Given the description of an element on the screen output the (x, y) to click on. 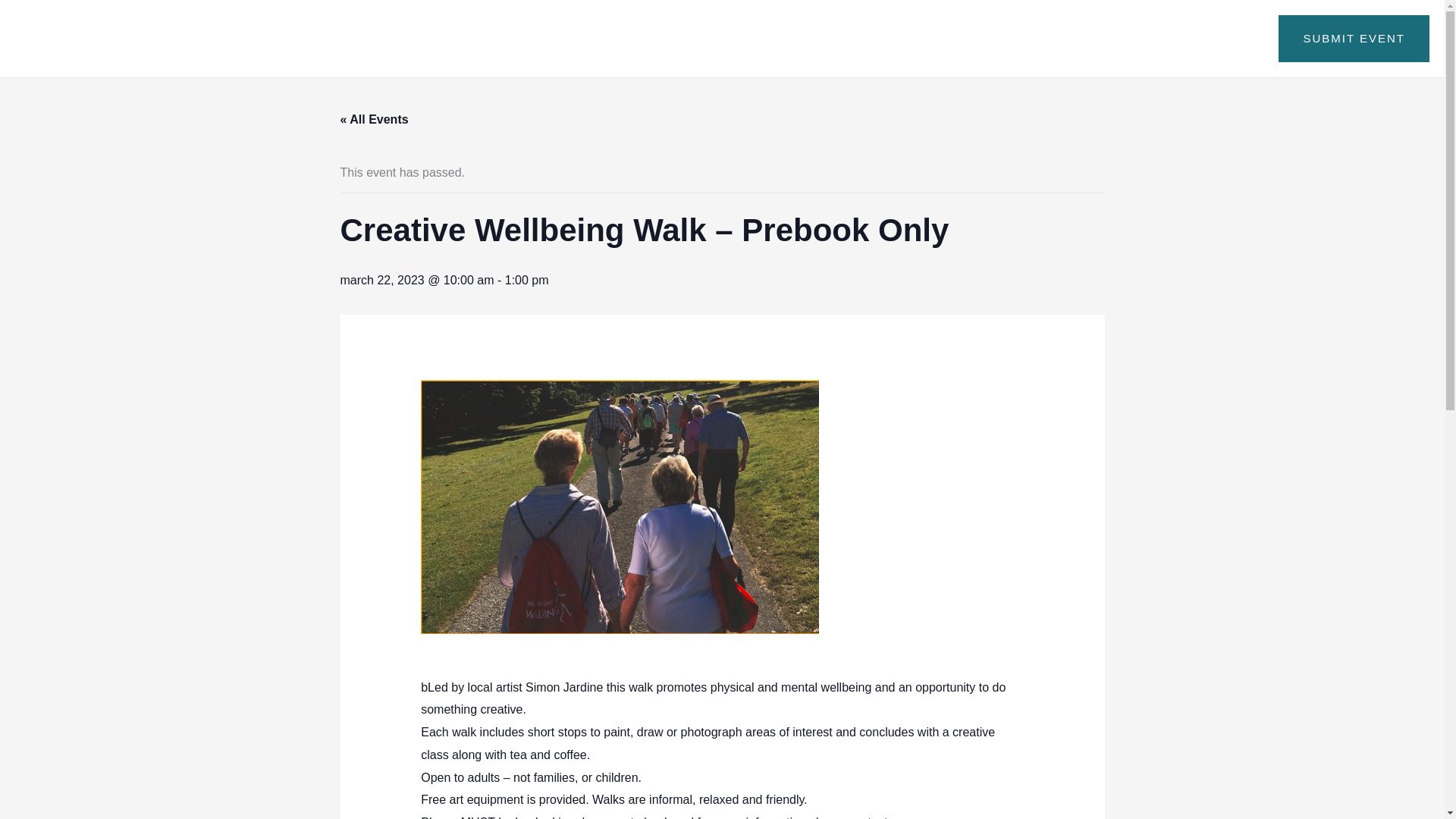
Facilities (829, 38)
Music (1133, 38)
Environment (1049, 38)
SUBMIT EVENT (1353, 38)
Past Events (1213, 38)
Home (758, 38)
